Given the description of an element on the screen output the (x, y) to click on. 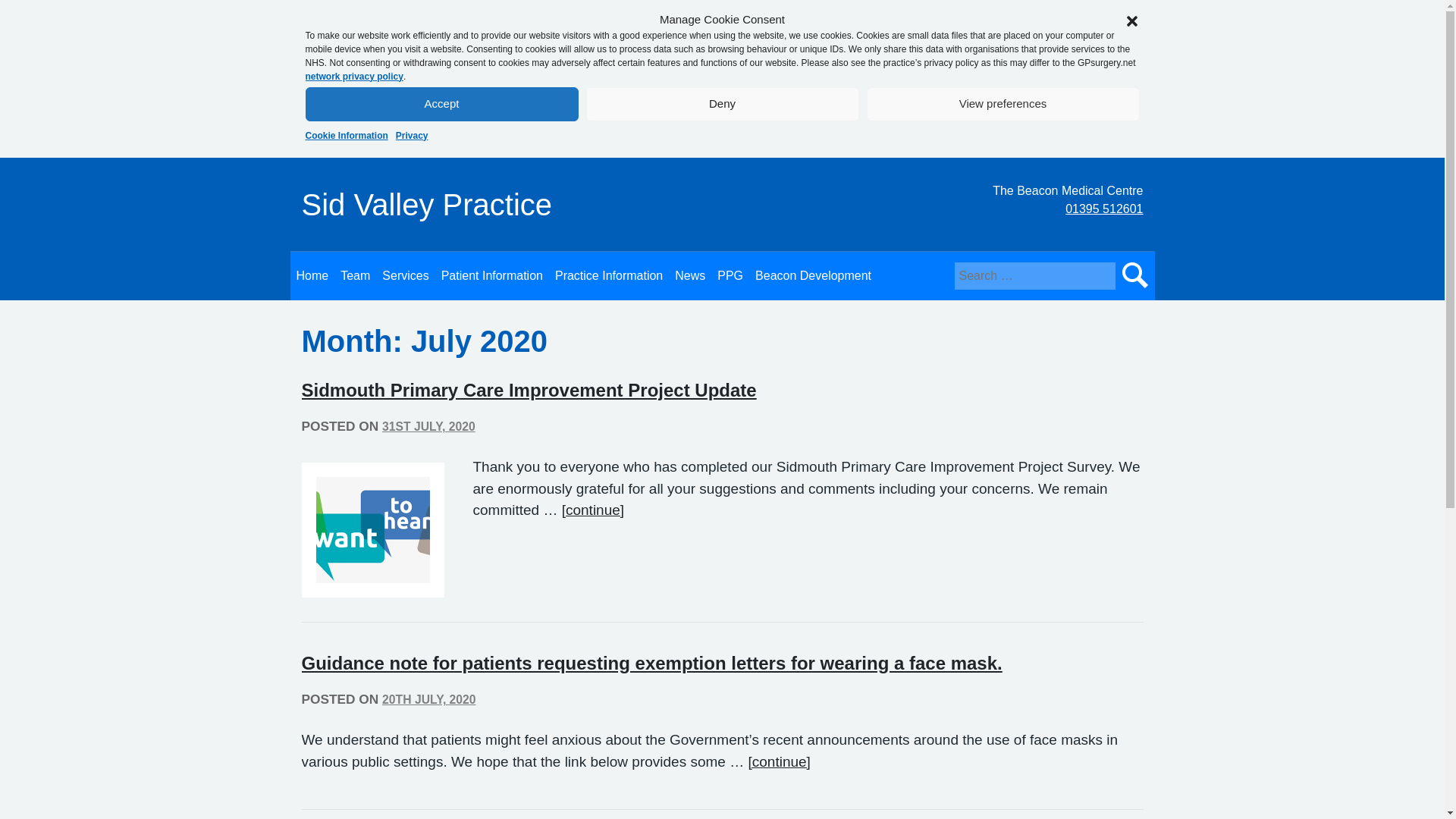
Deny (722, 103)
network privacy policy (353, 76)
Privacy (412, 135)
Cookie Information (345, 135)
Beacon Development (813, 276)
Services (404, 276)
Sidmouth Primary Care Improvement Project Update (529, 390)
01395 512601 (1103, 207)
Practice Information (608, 276)
PPG (730, 276)
search (1134, 275)
search (1134, 275)
Sid Valley Practice (427, 204)
Search for: (1034, 275)
Home (311, 276)
